Given the description of an element on the screen output the (x, y) to click on. 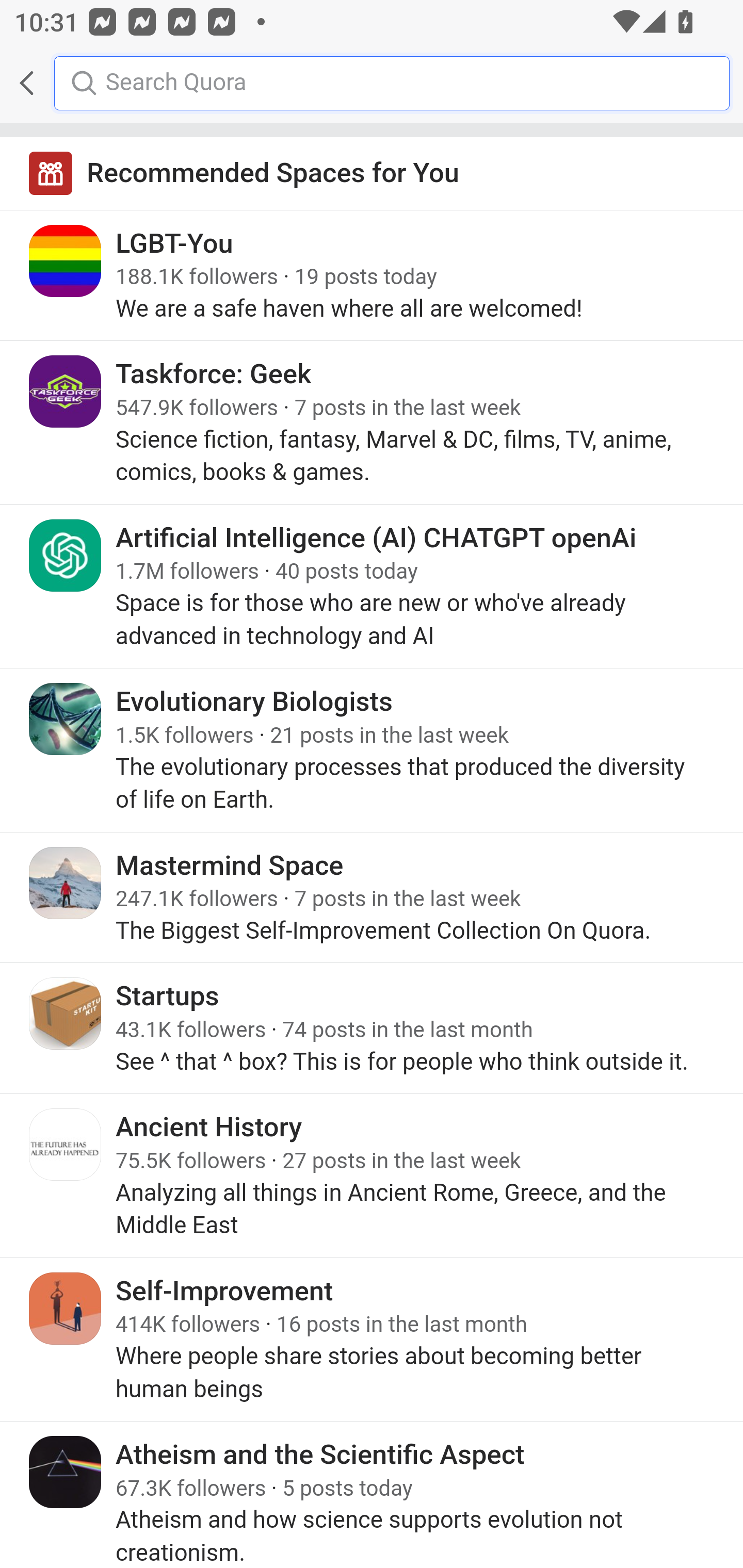
Me Home Search Add (371, 82)
Icon for LGBT-You (65, 260)
Icon for Taskforce: Geek (65, 391)
Icon for Evolutionary Biologists (65, 718)
Icon for Mastermind Space (65, 882)
Icon for Startups (65, 1013)
Icon for Ancient History (65, 1145)
Icon for Self-Improvement (65, 1308)
Icon for Atheism and the Scientific Aspect (65, 1471)
